Given the description of an element on the screen output the (x, y) to click on. 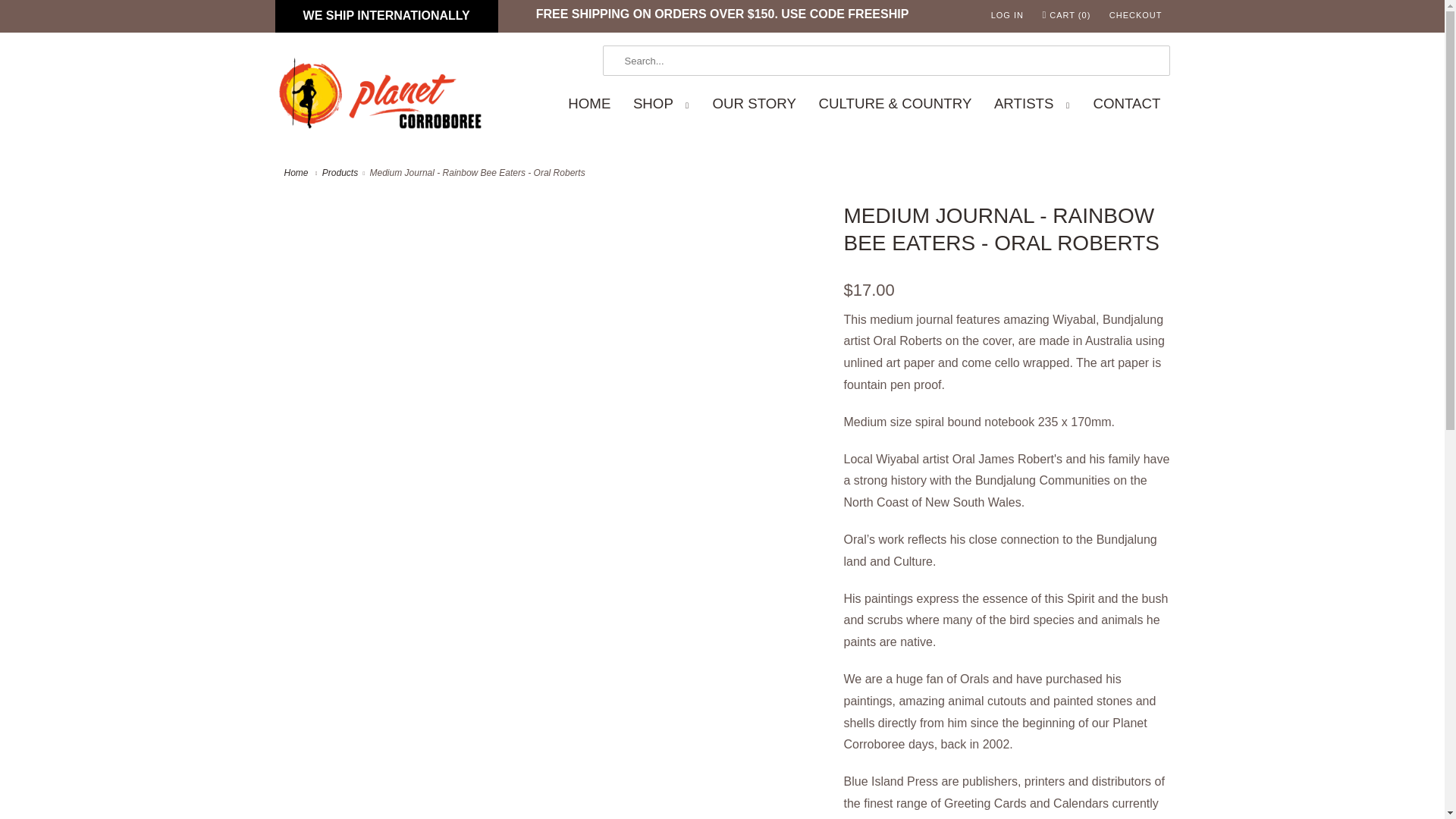
LOG IN (1007, 15)
Planet Corroboree (380, 96)
Products (339, 172)
Planet Corroboree (296, 172)
Medium Journal - Rainbow Bee Eaters - Oral Roberts (551, 208)
CHECKOUT (1135, 15)
